Given the description of an element on the screen output the (x, y) to click on. 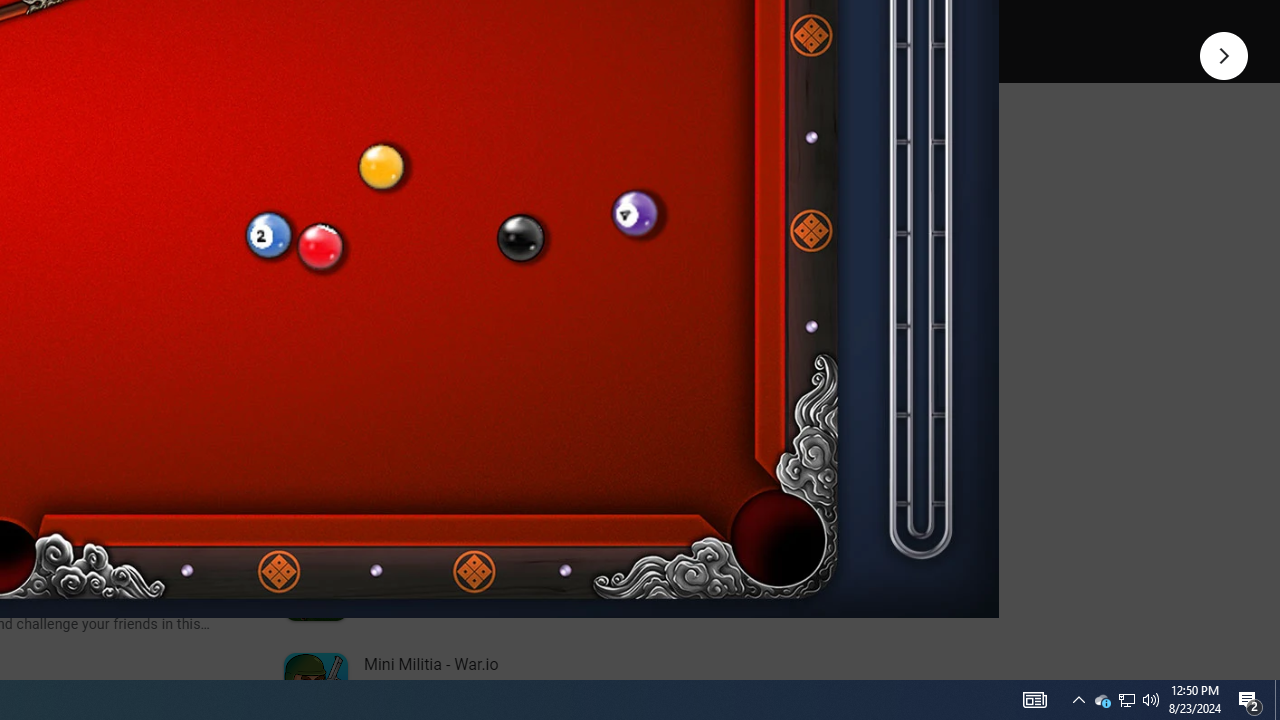
See more information on More by Miniclip.com (530, 229)
Play trailer (587, 24)
Expand (441, 155)
Scroll Next (212, 272)
Next (1224, 54)
